Given the description of an element on the screen output the (x, y) to click on. 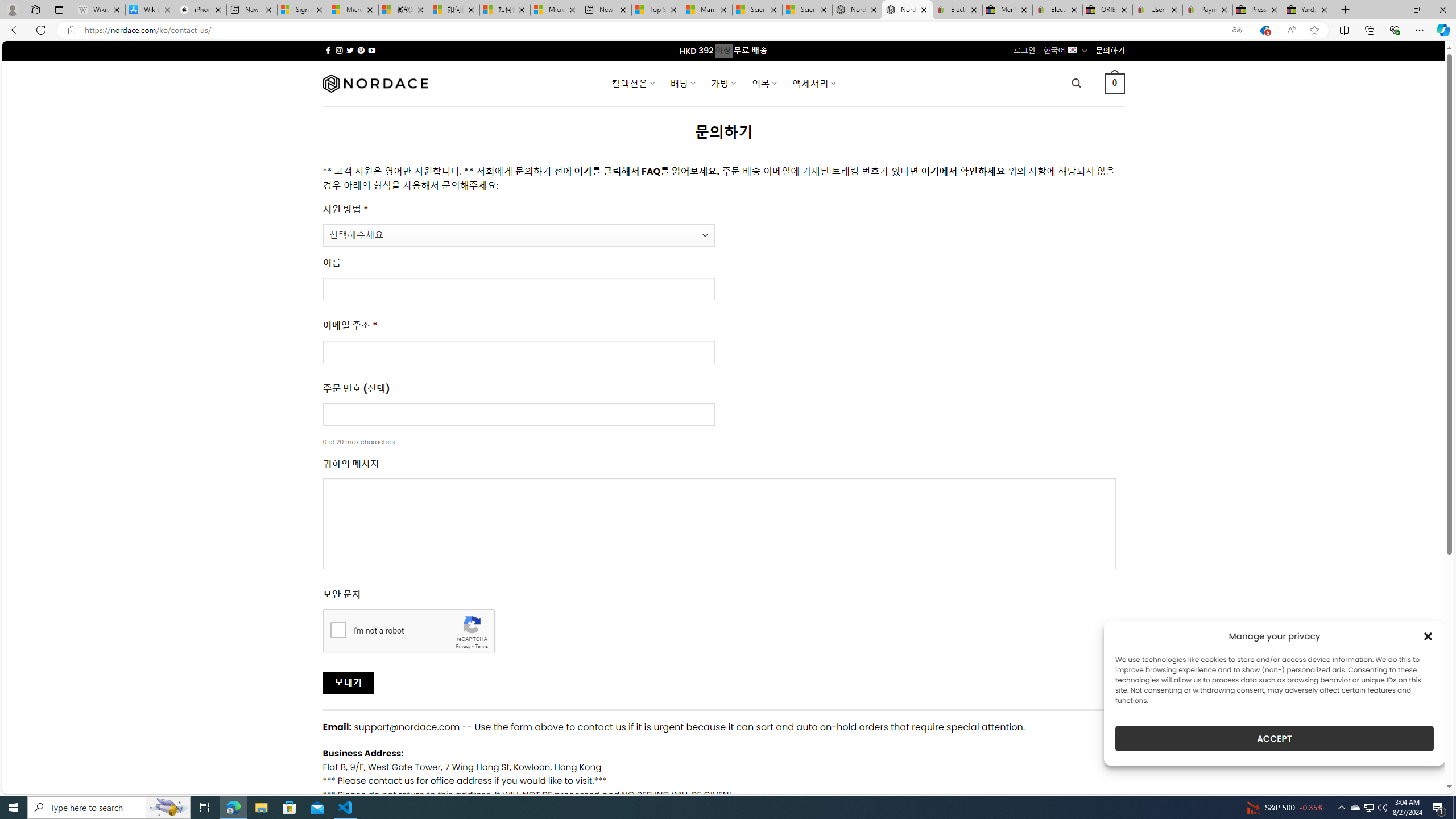
Follow on Facebook (327, 50)
ACCEPT (1274, 738)
Show translate options (1236, 29)
Class: cmplz-close (1428, 636)
Press Room - eBay Inc. (1257, 9)
This site has coupons! Shopping in Microsoft Edge, 5 (1263, 29)
